Given the description of an element on the screen output the (x, y) to click on. 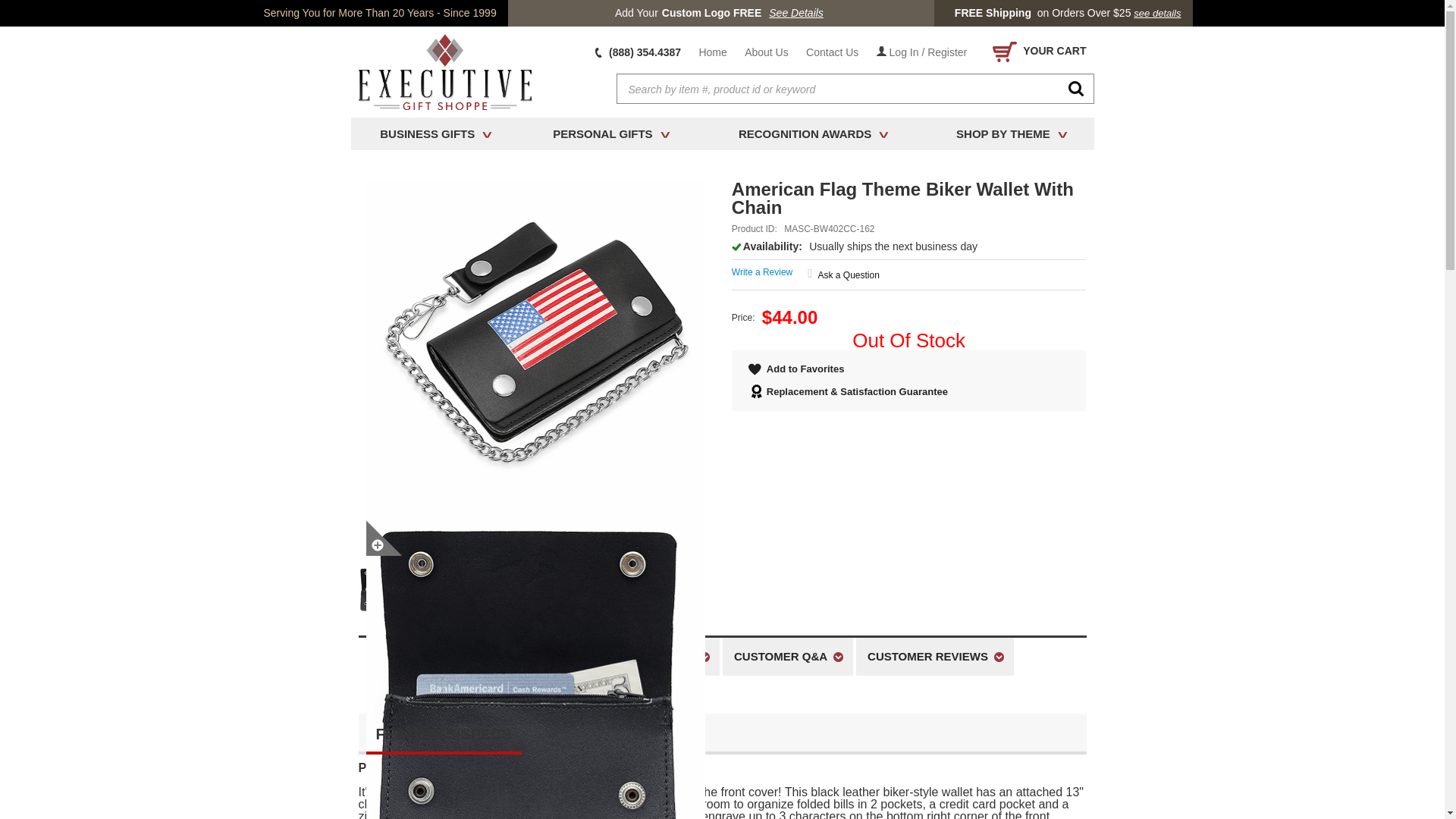
YOUR CART (1035, 51)
see details (1157, 13)
About Us (766, 51)
See Details (796, 13)
Contact Us (831, 51)
Home (711, 51)
